Given the description of an element on the screen output the (x, y) to click on. 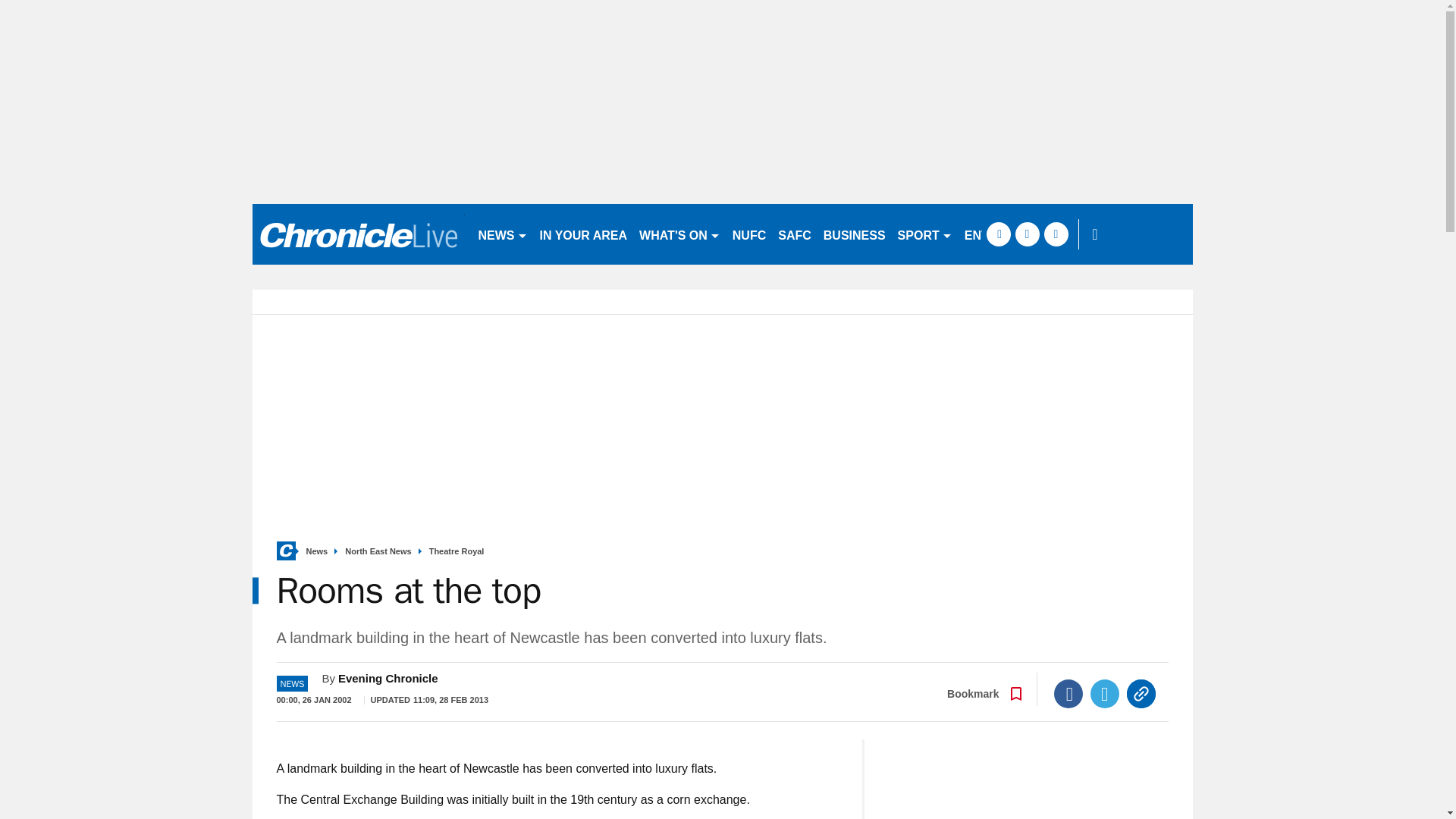
SPORT (924, 233)
twitter (1026, 233)
BUSINESS (853, 233)
WHAT'S ON (679, 233)
facebook (997, 233)
nechronicle (357, 233)
IN YOUR AREA (583, 233)
Facebook (1068, 693)
instagram (1055, 233)
Twitter (1104, 693)
